Given the description of an element on the screen output the (x, y) to click on. 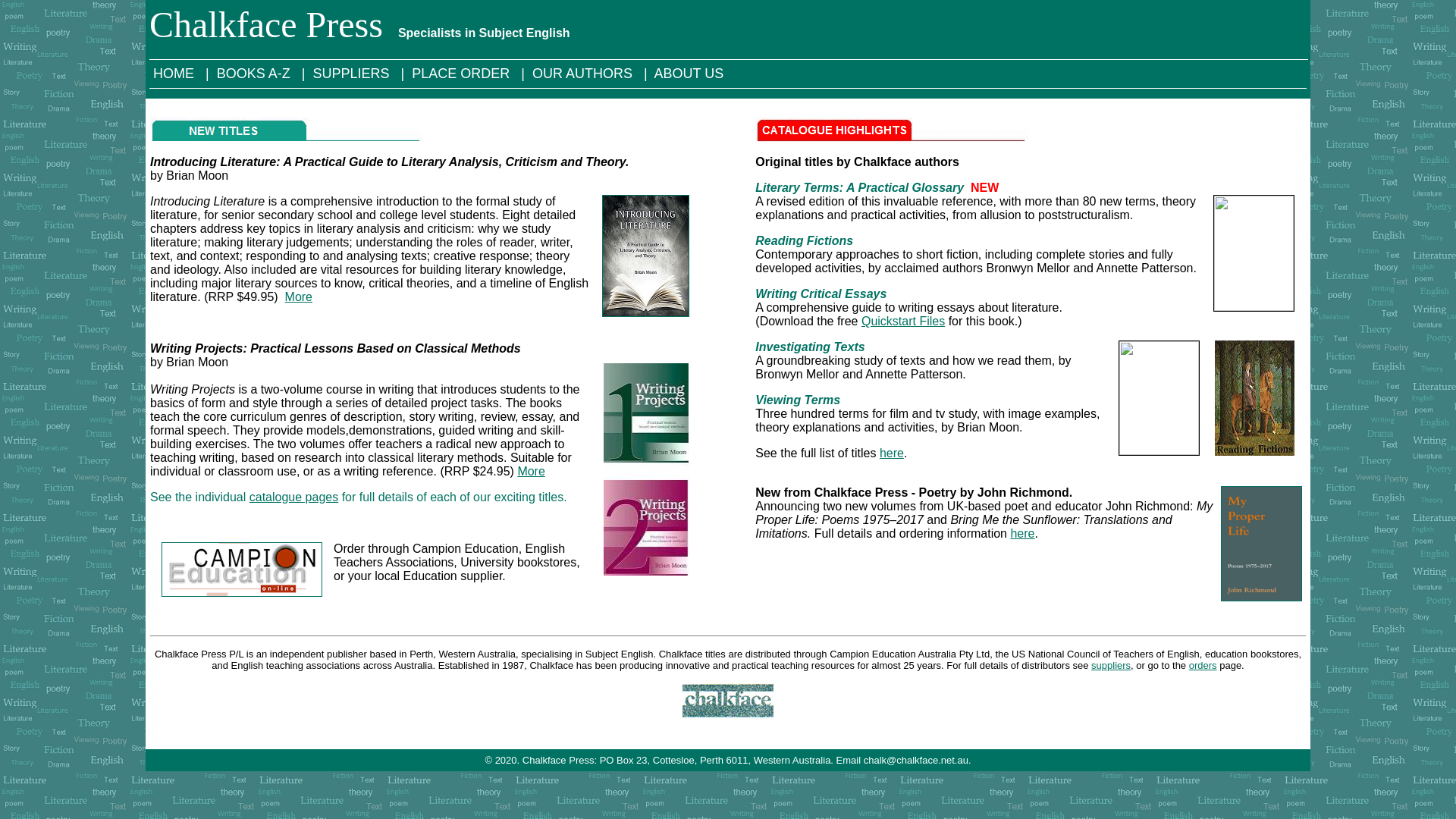
 BOOKS A-Z   Element type: text (255, 73)
suppliers Element type: text (1110, 665)
orders Element type: text (1203, 665)
 OUR AUTHORS   Element type: text (584, 73)
Writing Critical Essays Element type: text (820, 293)
Quickstart Files Element type: text (902, 320)
here Element type: text (891, 452)
Viewing Terms Element type: text (797, 399)
here Element type: text (1022, 533)
 SUPPLIERS   Element type: text (352, 73)
Investigating Texts Element type: text (809, 346)
More Element type: text (298, 296)
Literary Terms: A Practical Glossary Element type: text (859, 187)
 ABOUT US   Element type: text (691, 73)
 HOME   Element type: text (175, 73)
catalogue pages Element type: text (293, 496)
More Element type: text (530, 470)
Reading Fictions Element type: text (804, 240)
 PLACE ORDER   Element type: text (462, 73)
